Given the description of an element on the screen output the (x, y) to click on. 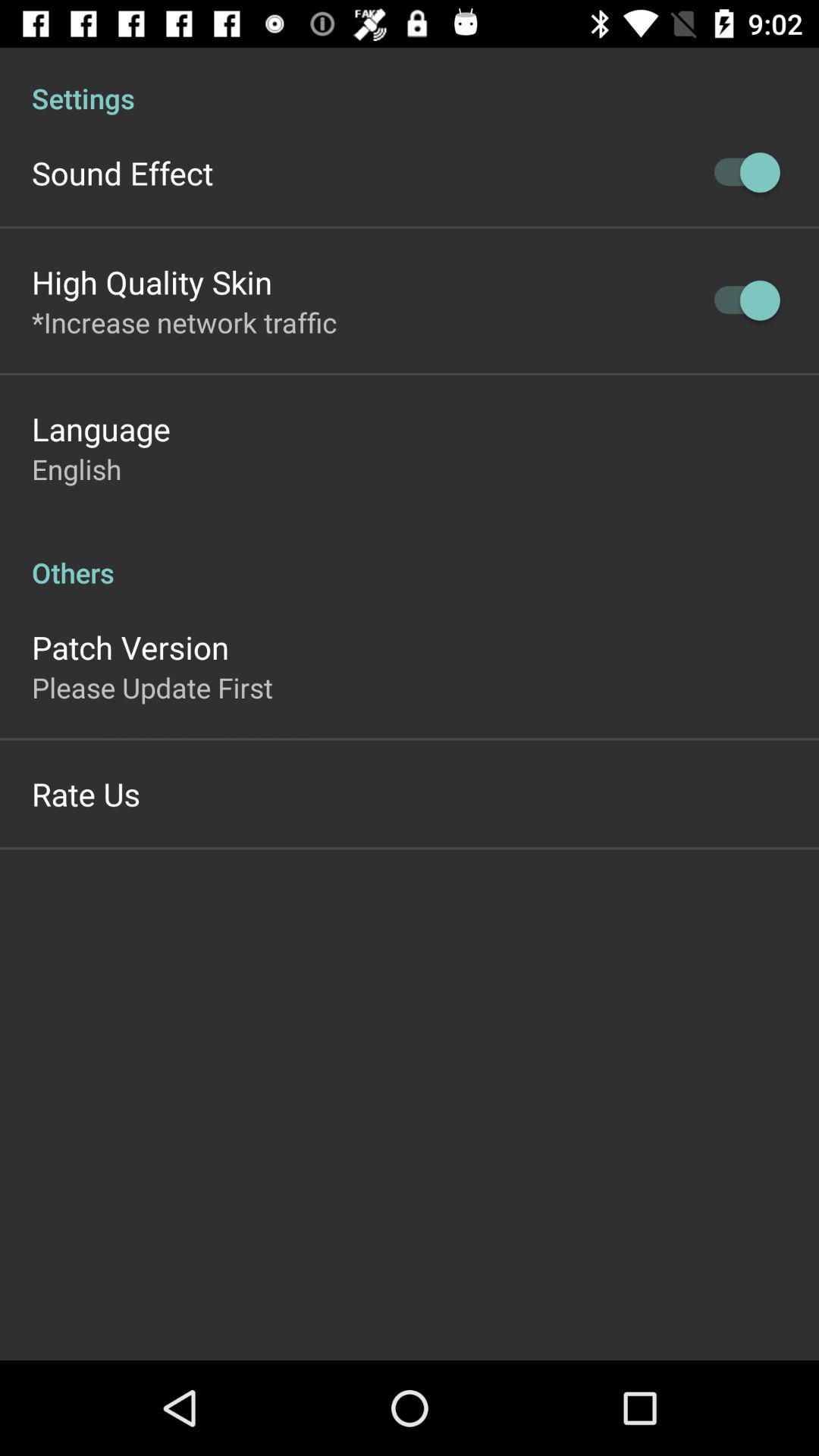
choose the rate us (85, 793)
